Given the description of an element on the screen output the (x, y) to click on. 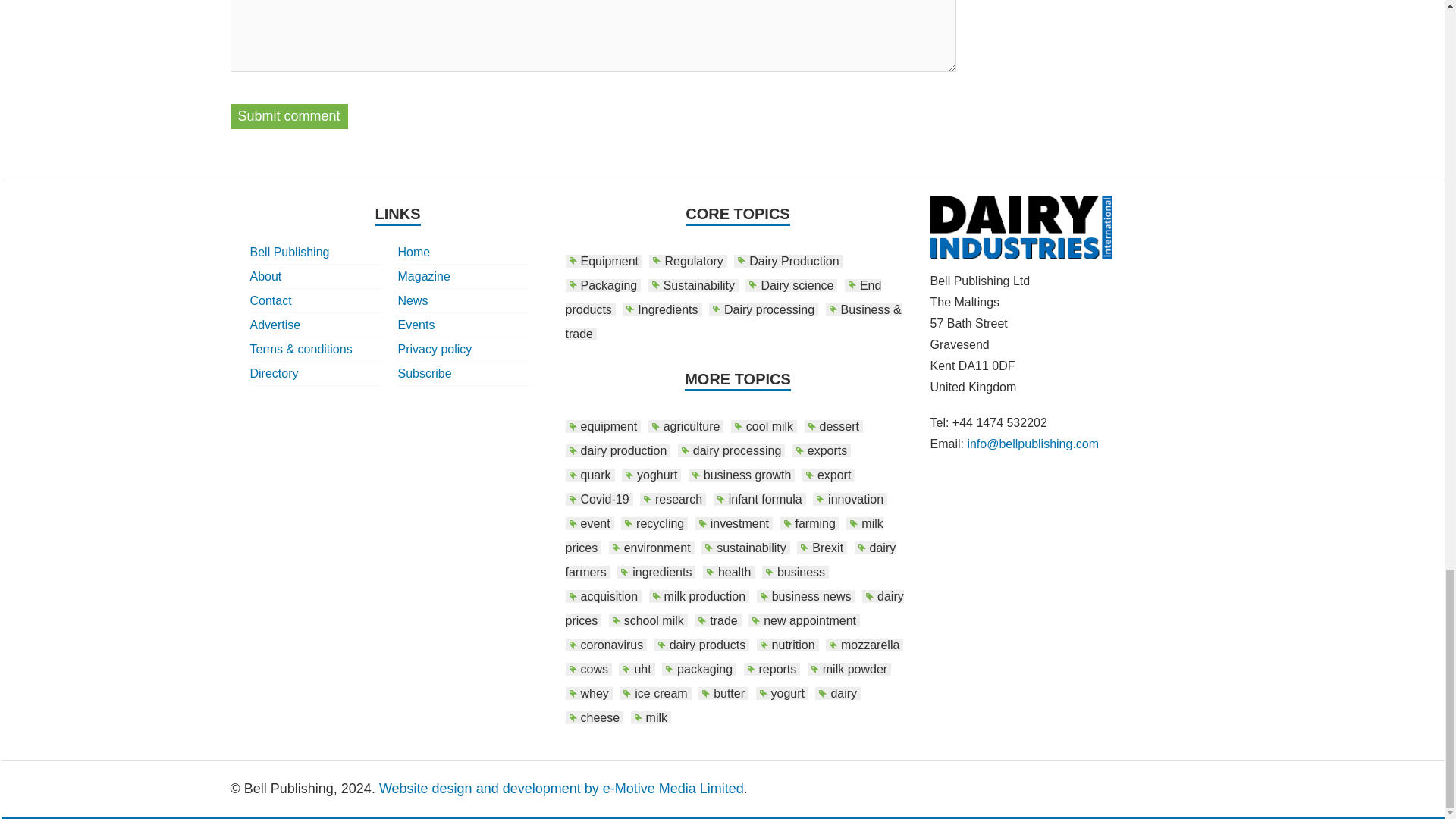
Submit comment (288, 116)
